Given the description of an element on the screen output the (x, y) to click on. 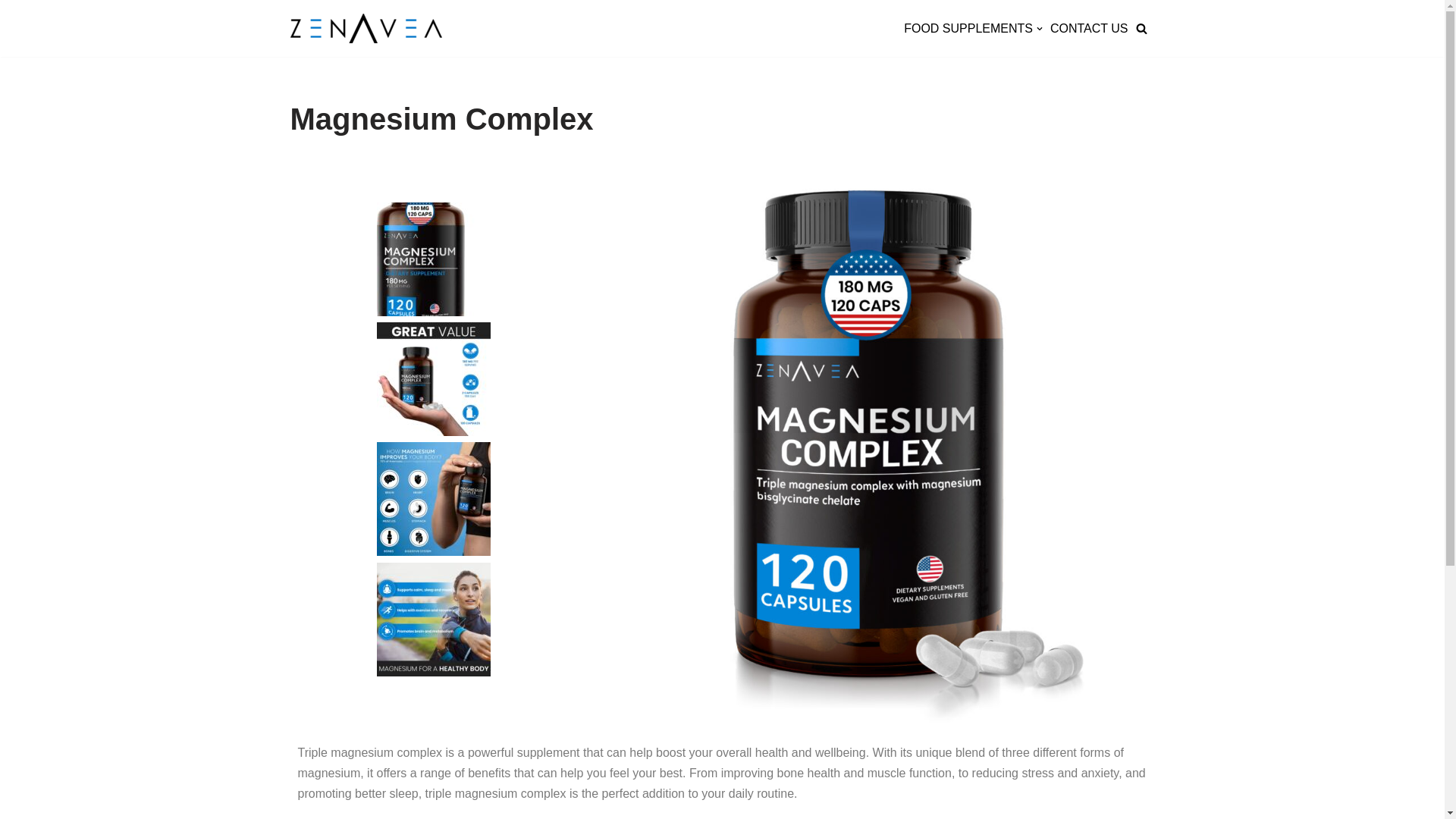
FOOD SUPPLEMENTS (973, 27)
Zenavea (365, 28)
CONTACT US (1088, 27)
Aller au contenu (11, 31)
